Given the description of an element on the screen output the (x, y) to click on. 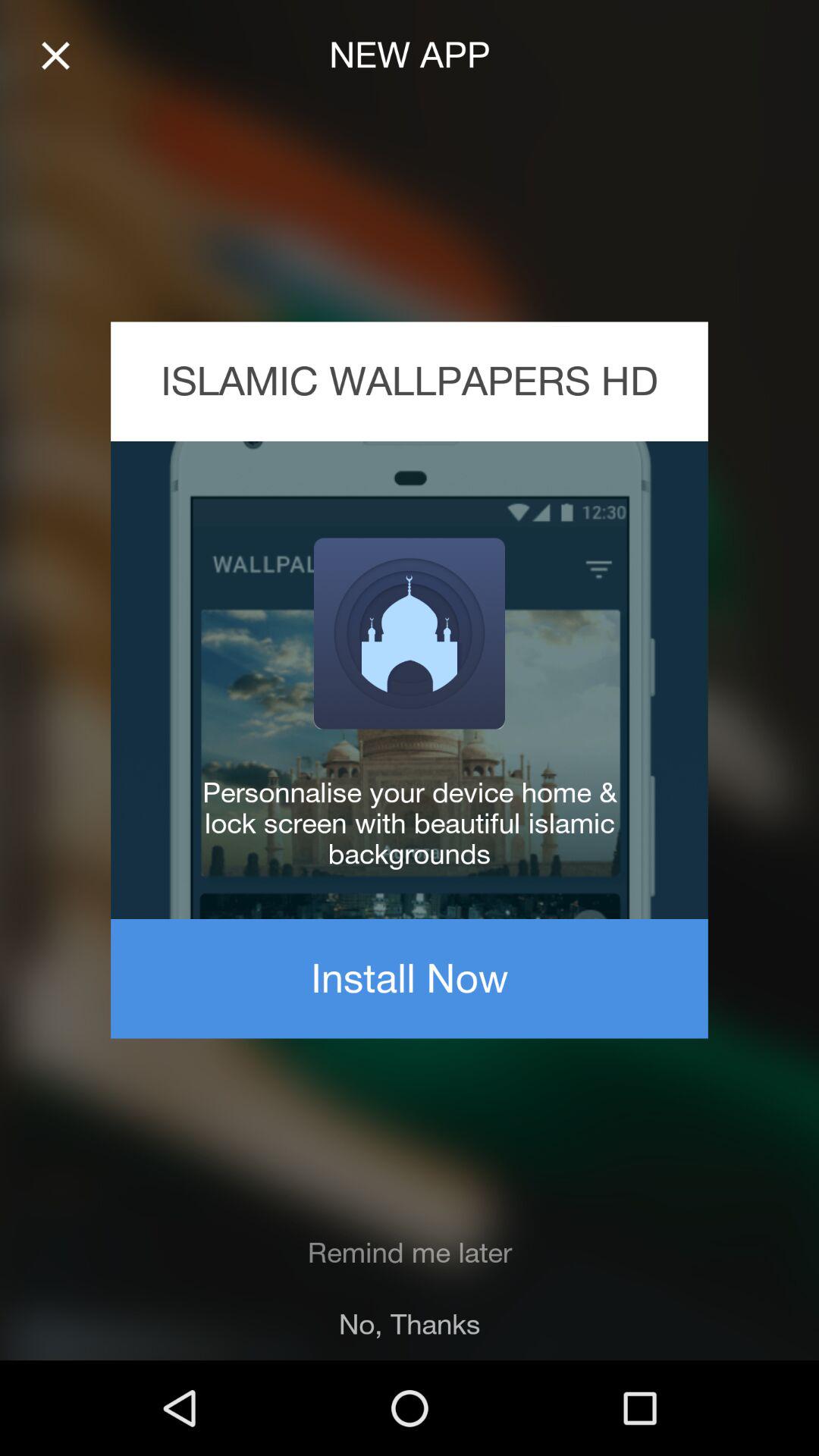
go to closed (55, 55)
